Given the description of an element on the screen output the (x, y) to click on. 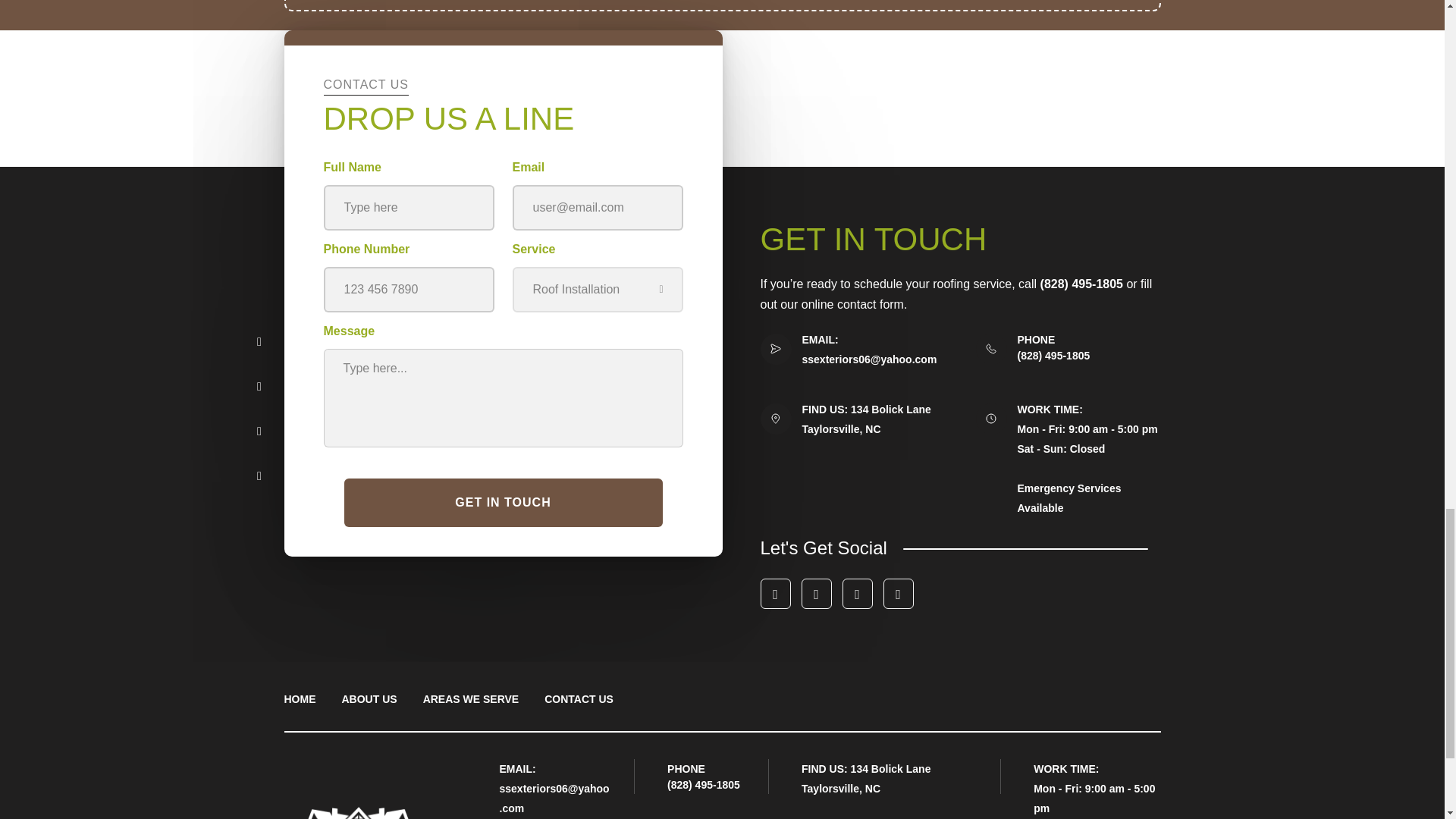
get in touch (502, 502)
Roof Installation (597, 289)
